Given the description of an element on the screen output the (x, y) to click on. 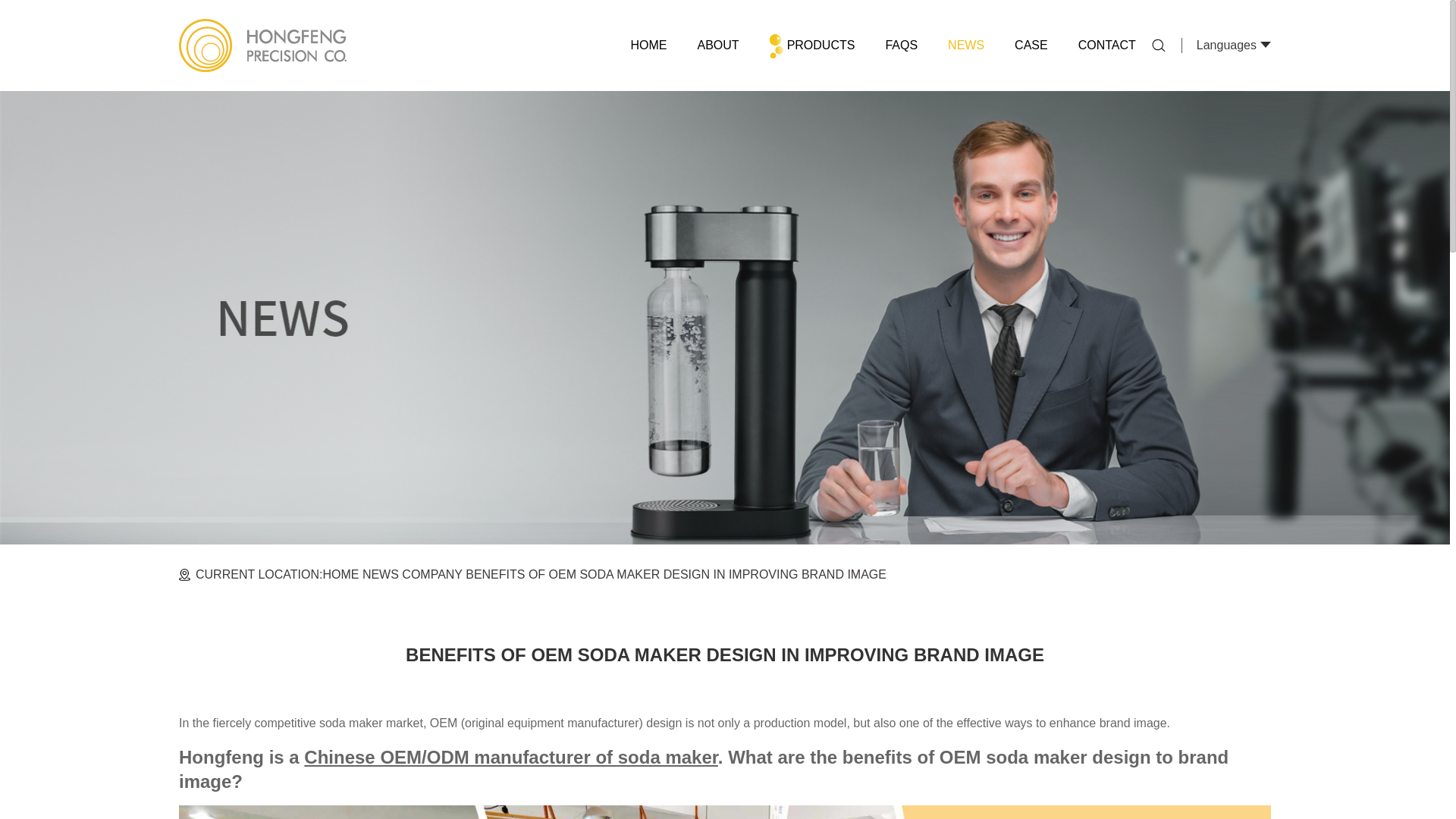
CONTACT (1106, 45)
Languages (1226, 44)
Zhejiang Hongfeng Precision Co.,Ltd (262, 45)
PRODUCTS (812, 45)
